Given the description of an element on the screen output the (x, y) to click on. 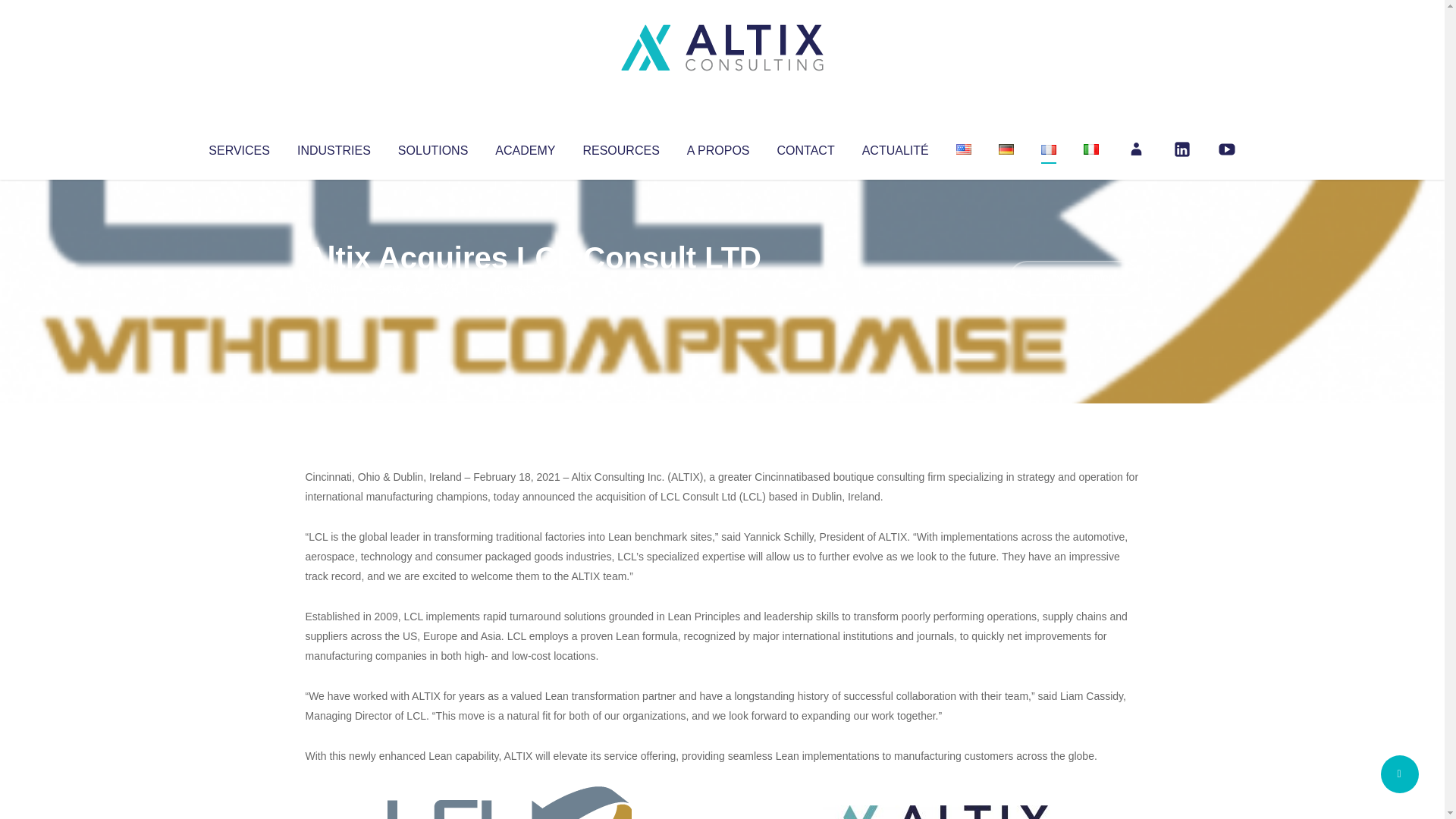
INDUSTRIES (334, 146)
No Comments (1073, 278)
A PROPOS (718, 146)
SOLUTIONS (432, 146)
RESOURCES (620, 146)
SERVICES (238, 146)
Uncategorized (530, 287)
ACADEMY (524, 146)
Altix (333, 287)
Articles par Altix (333, 287)
